Given the description of an element on the screen output the (x, y) to click on. 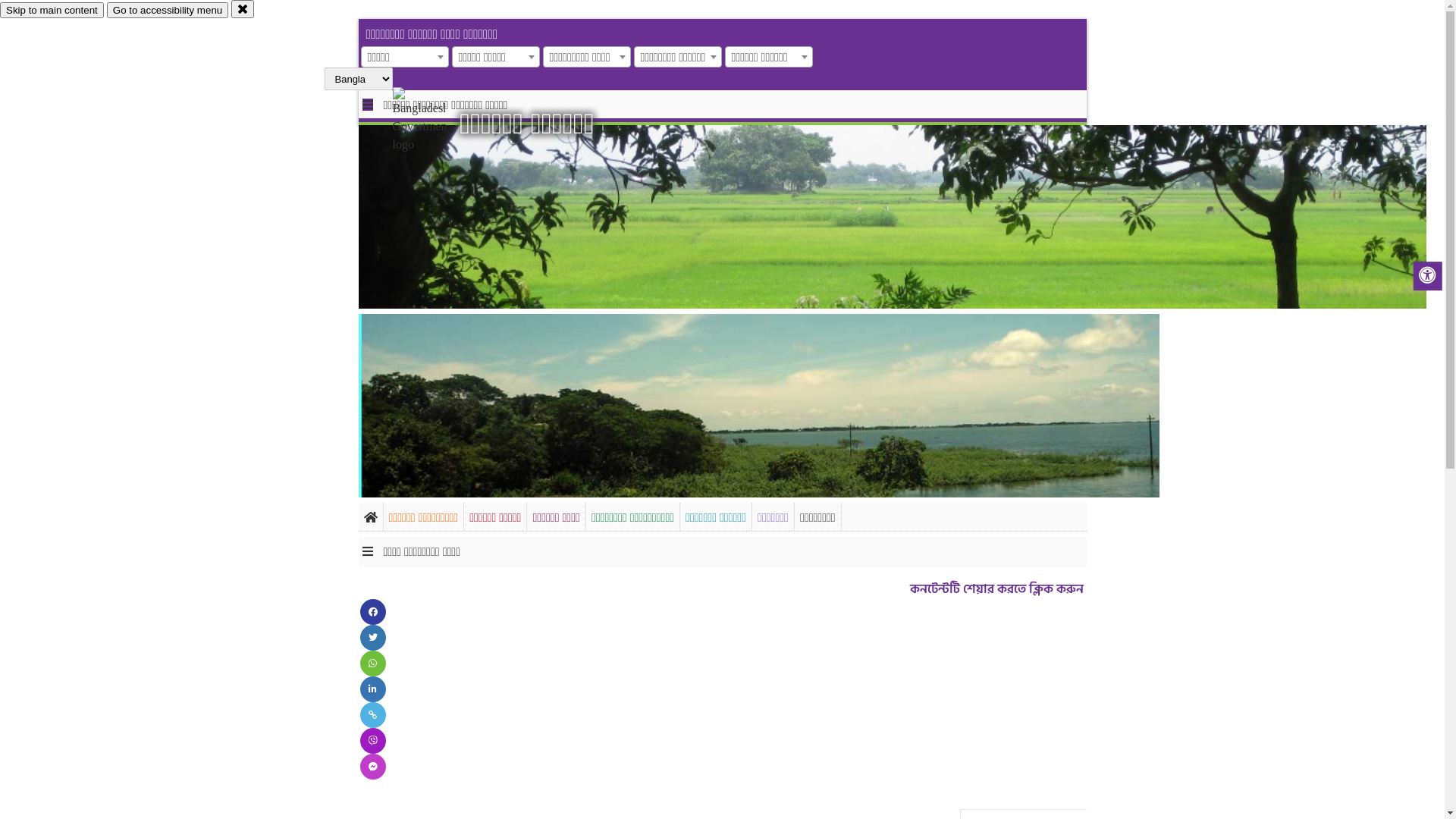
close Element type: hover (242, 9)
Go to accessibility menu Element type: text (167, 10)
Skip to main content Element type: text (51, 10)

                
             Element type: hover (431, 120)
